Given the description of an element on the screen output the (x, y) to click on. 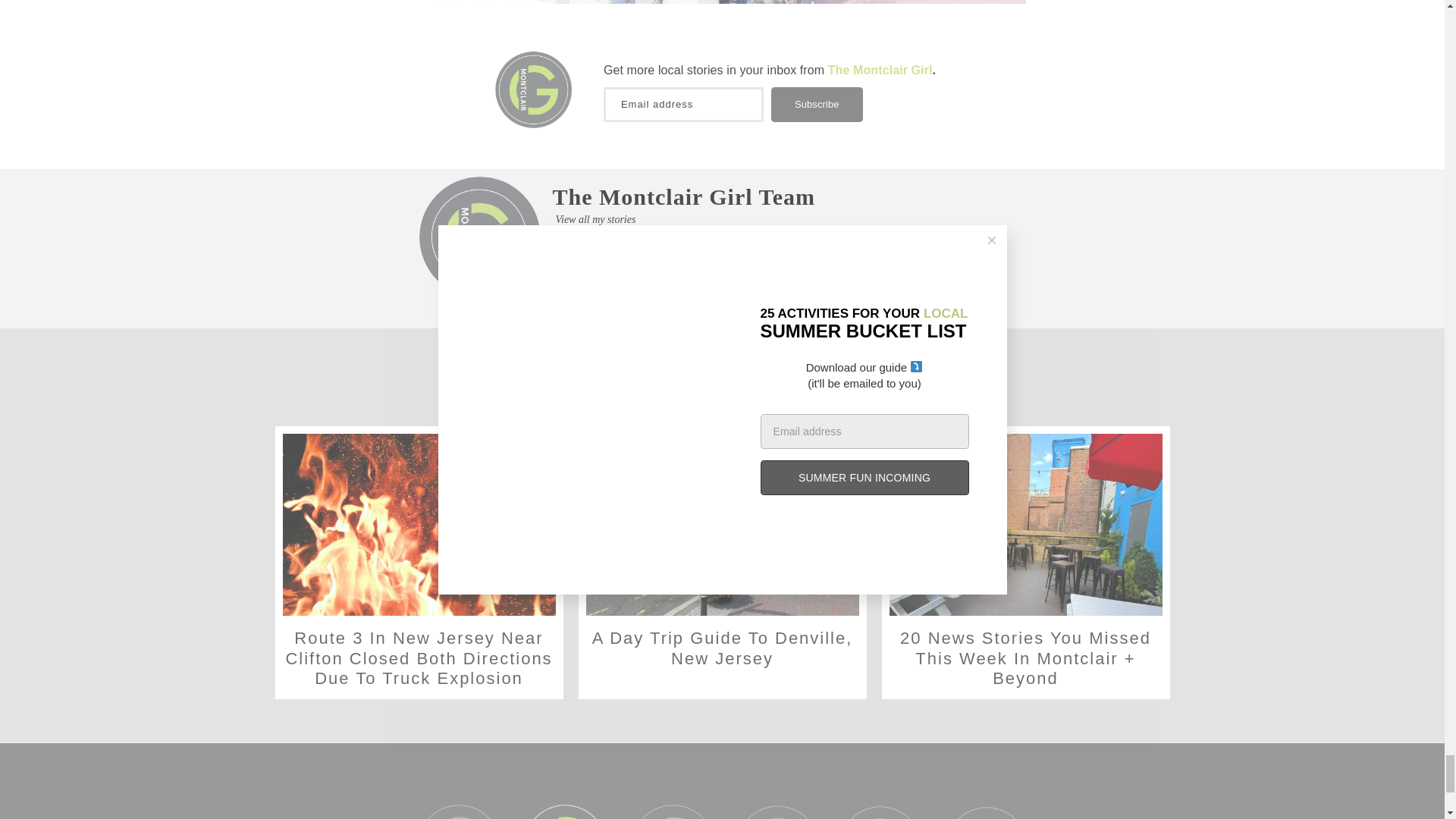
A Day Trip Guide to Denville, New Jersey (722, 524)
Posts by The Montclair Girl Team (683, 196)
